Given the description of an element on the screen output the (x, y) to click on. 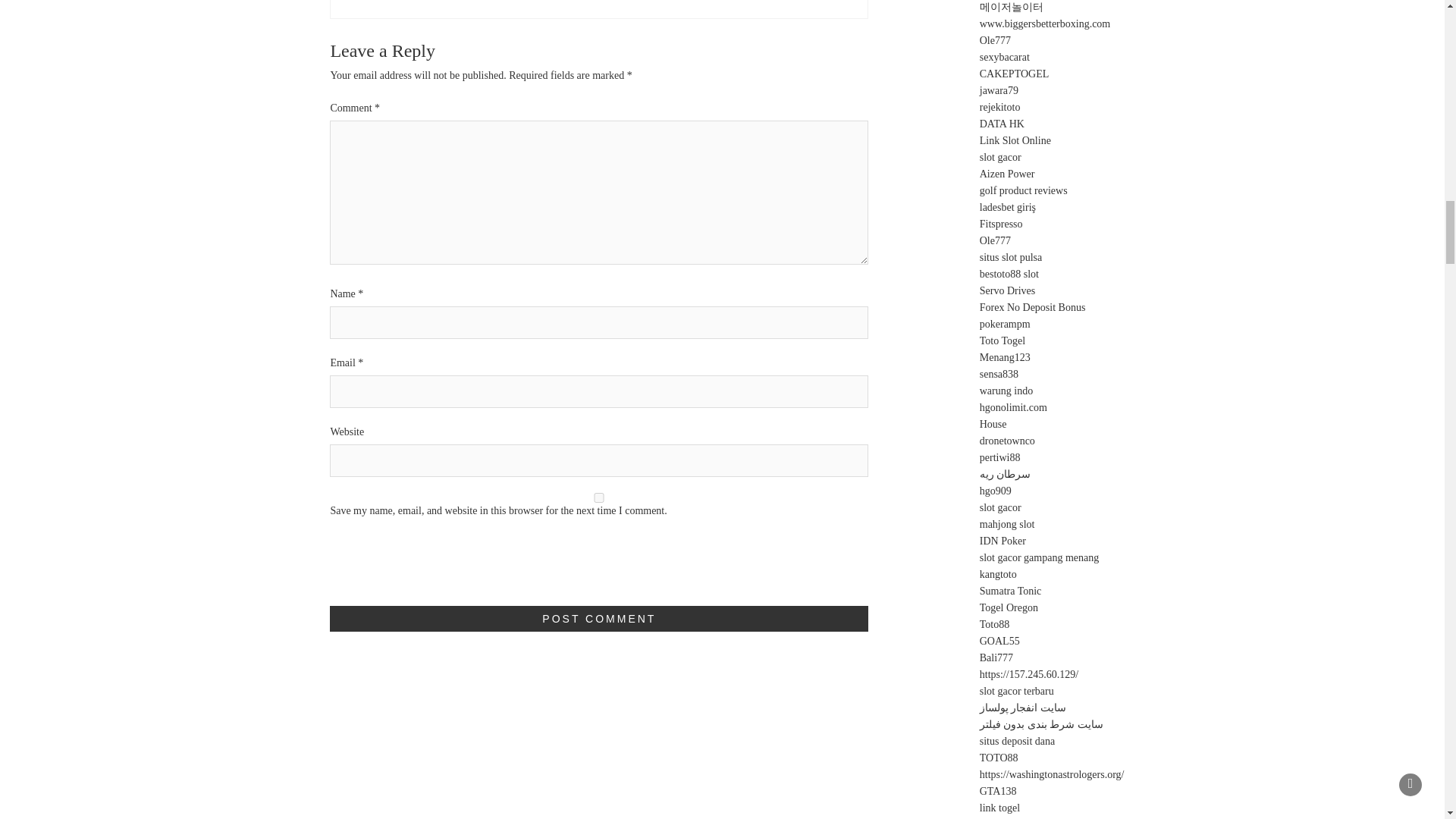
Post Comment (598, 618)
yes (598, 497)
Post Comment (598, 618)
reCAPTCHA (445, 571)
